Given the description of an element on the screen output the (x, y) to click on. 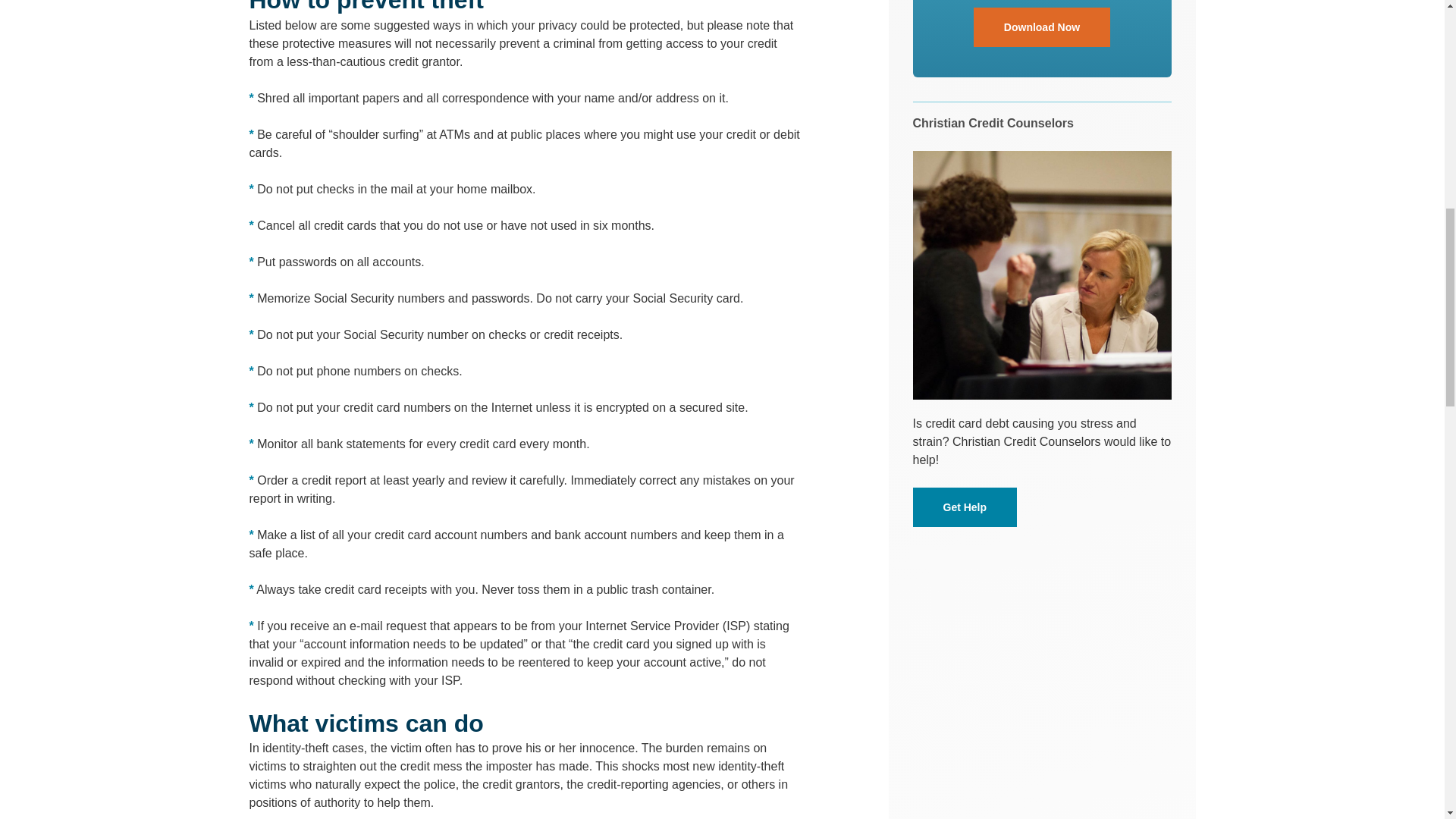
Neile At Crownbusinesssummitt 22 1 E1672242745290 1024x987 (1042, 275)
